Given the description of an element on the screen output the (x, y) to click on. 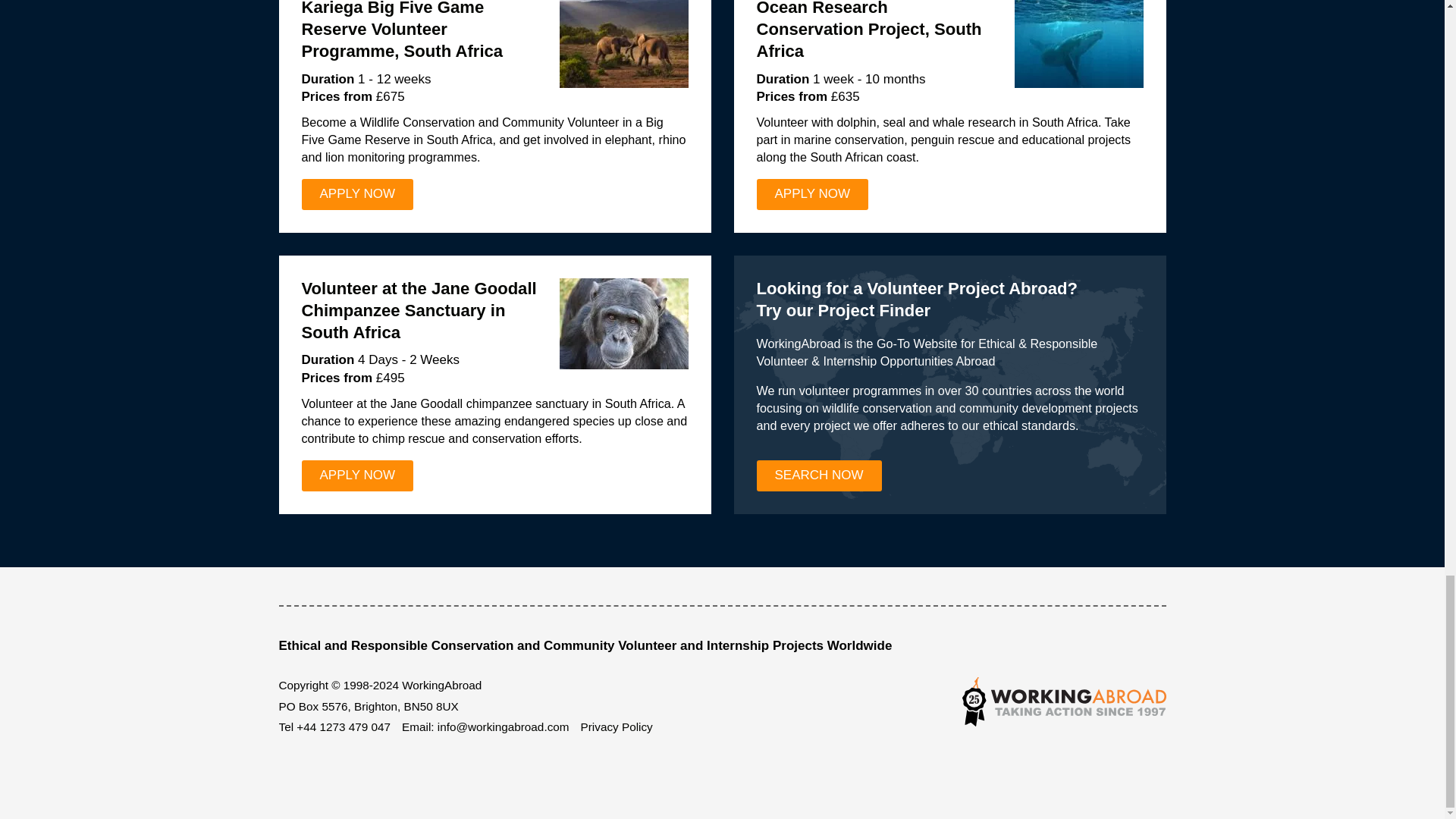
Ocean Research Conservation Project, South Africa (869, 30)
APPLY NOW (357, 194)
